Given the description of an element on the screen output the (x, y) to click on. 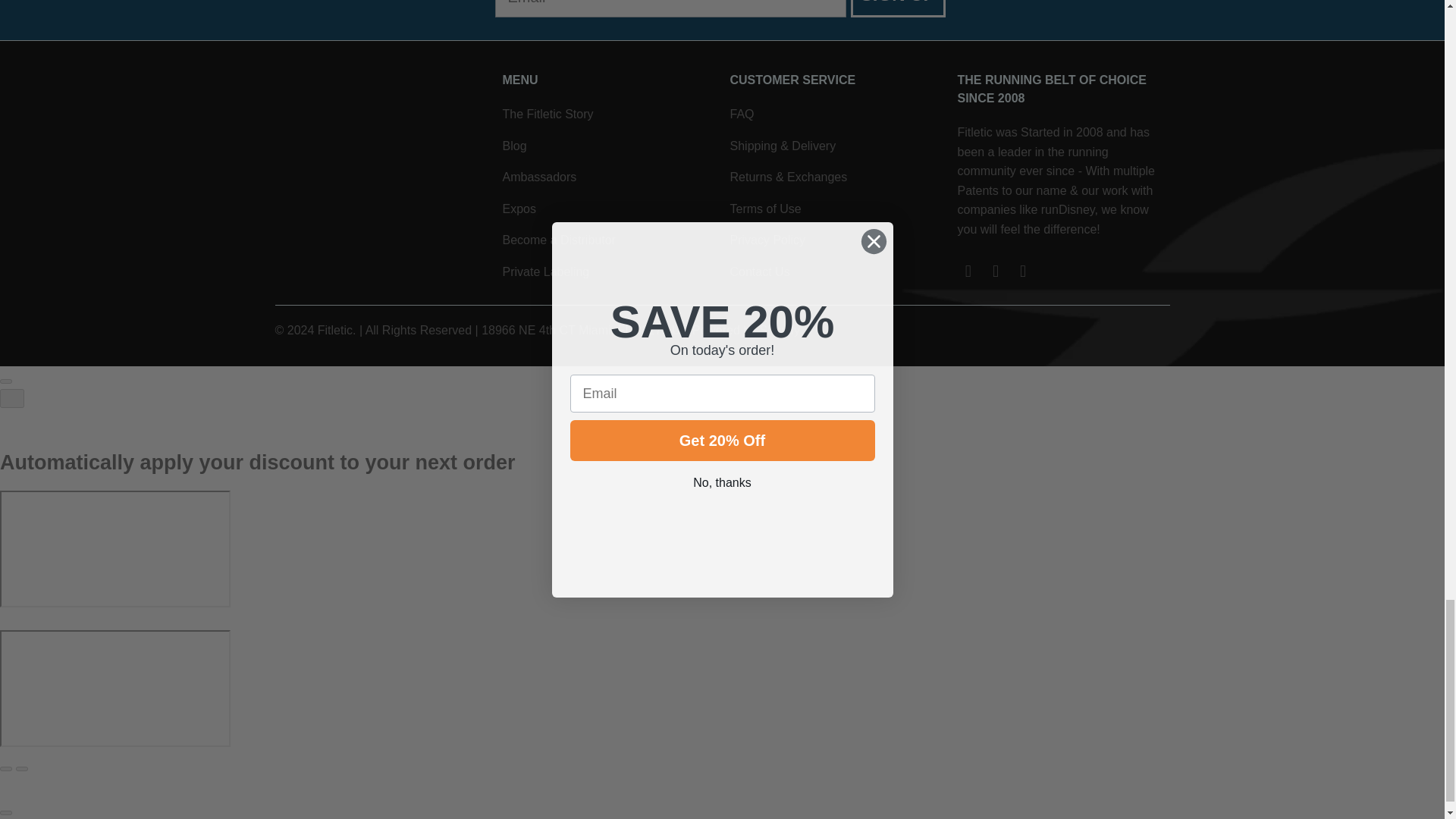
Fitletic on Facebook (996, 271)
Fitletic on Instagram (1023, 271)
Email Fitletic (967, 271)
